Given the description of an element on the screen output the (x, y) to click on. 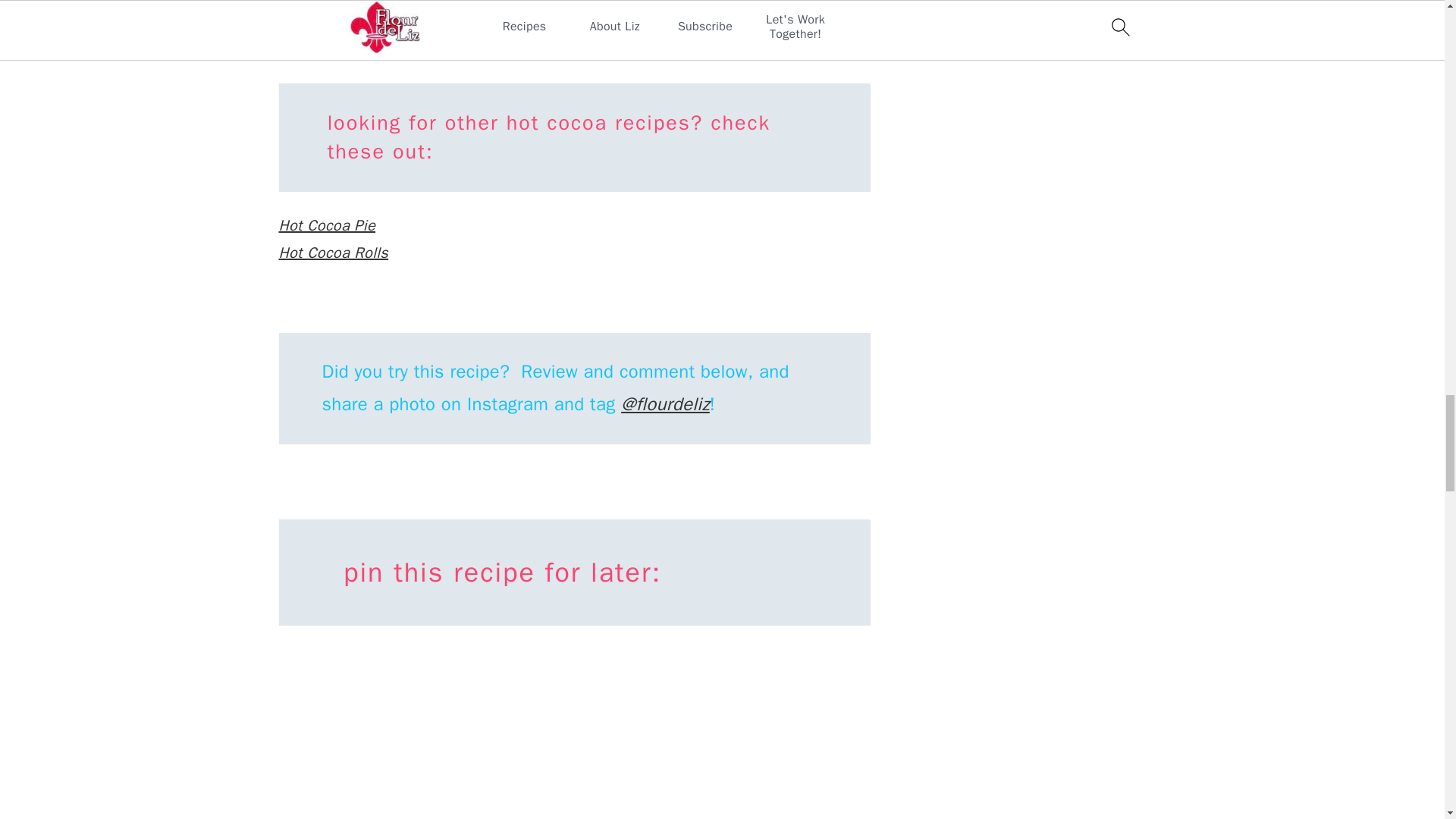
Smoky Bourbon Chocolate Fudge (391, 46)
Salted Caramel Fudge (354, 18)
